Given the description of an element on the screen output the (x, y) to click on. 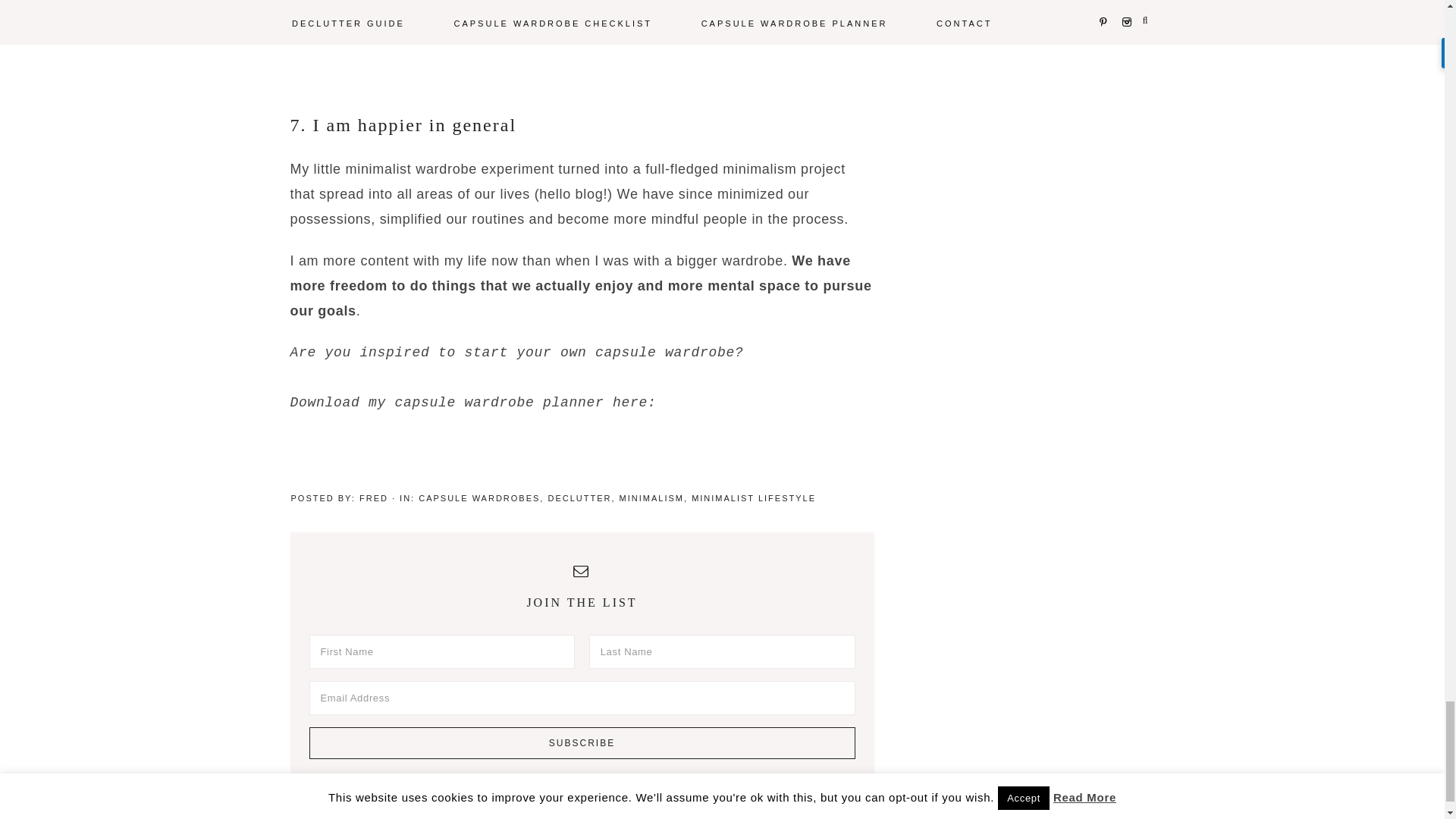
DECLUTTER (579, 497)
FRED (373, 497)
Subscribe (582, 743)
7 ways a minimalist wardrobe changed my life (581, 25)
CAPSULE WARDROBES (479, 497)
